Given the description of an element on the screen output the (x, y) to click on. 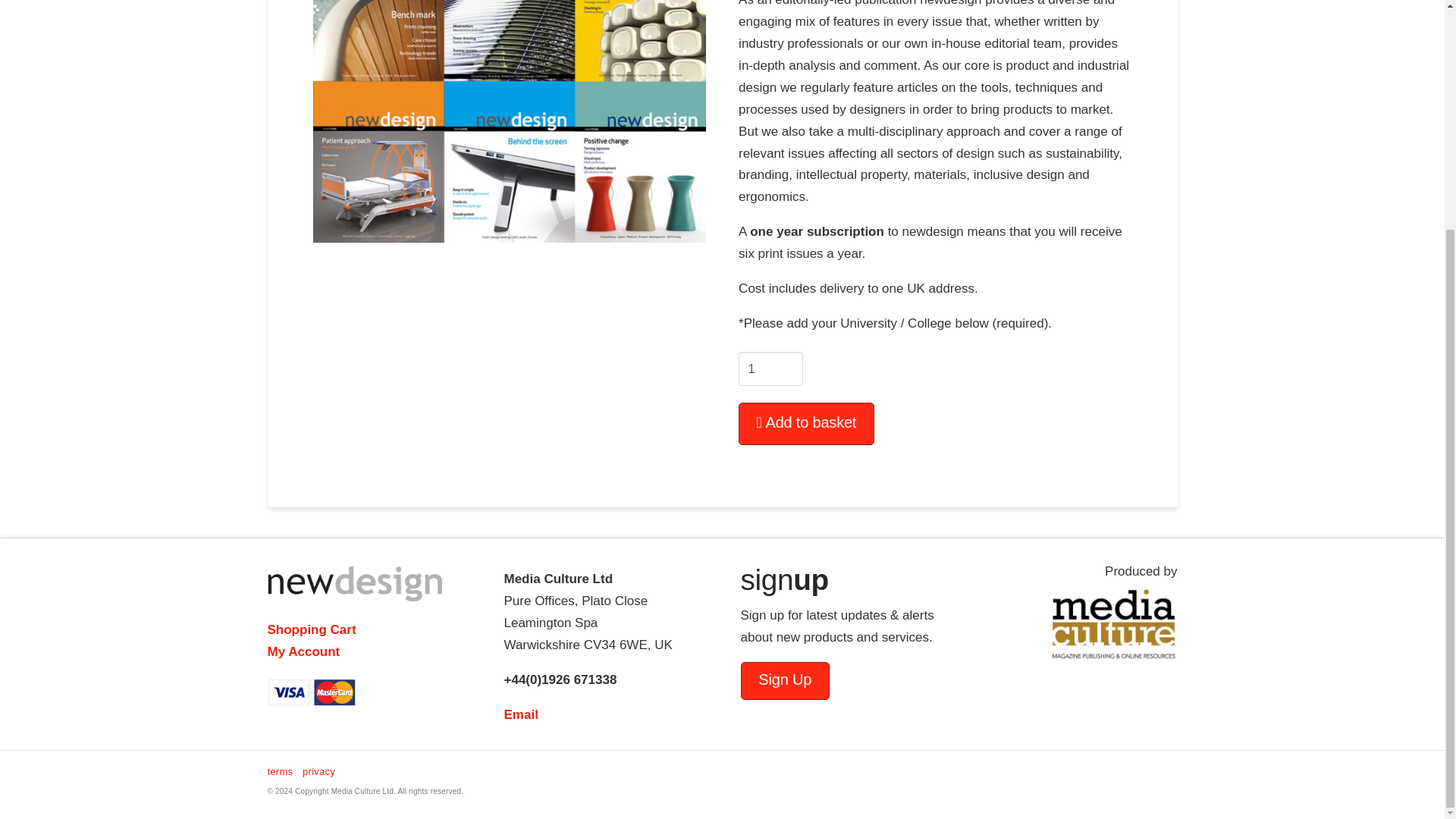
subscriptions (508, 121)
Shopping Cart (310, 629)
Sign up (783, 680)
My Account (302, 651)
1 (770, 368)
Add to basket (806, 423)
